Given the description of an element on the screen output the (x, y) to click on. 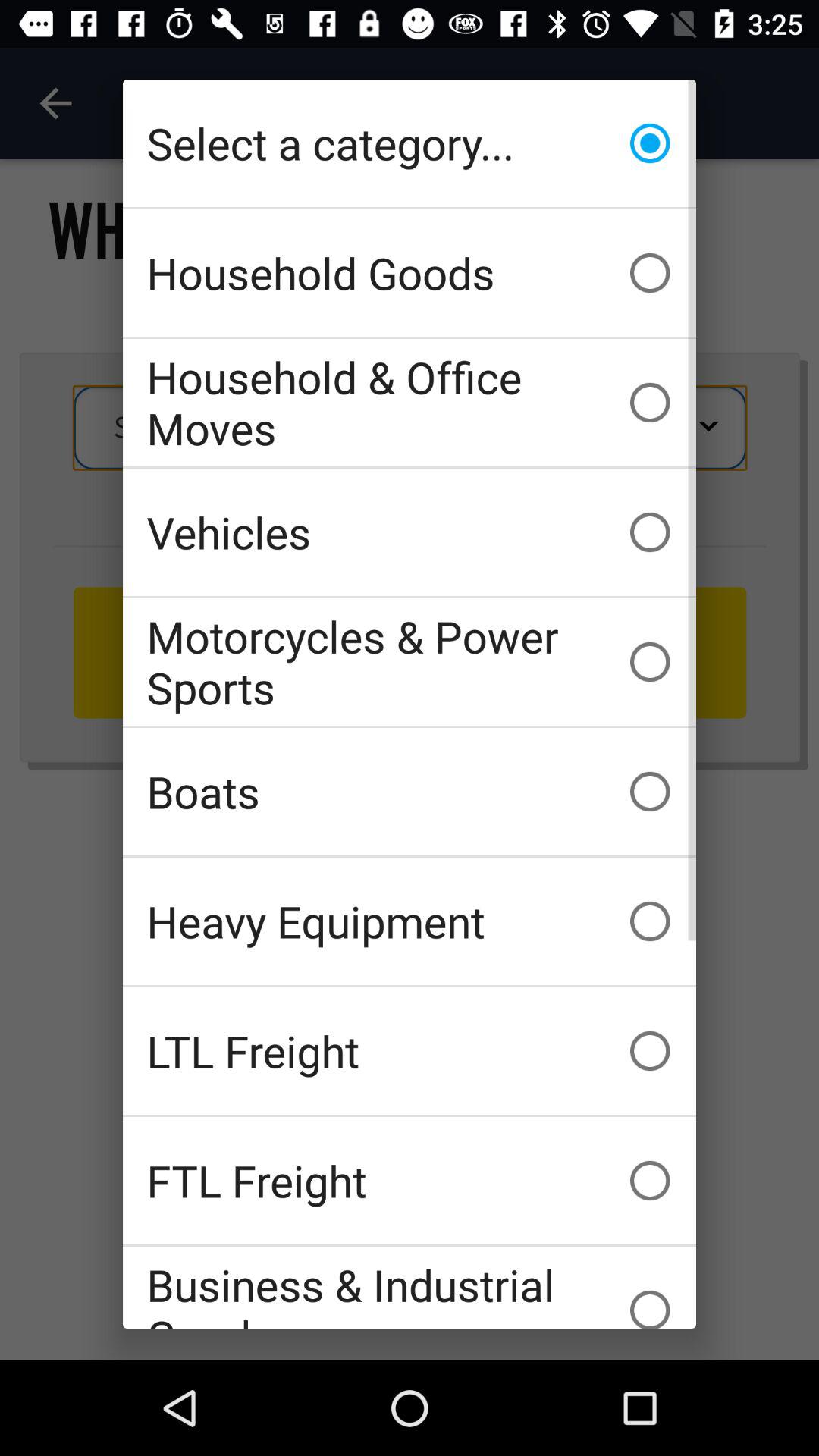
open the icon above the ltl freight item (409, 921)
